Given the description of an element on the screen output the (x, y) to click on. 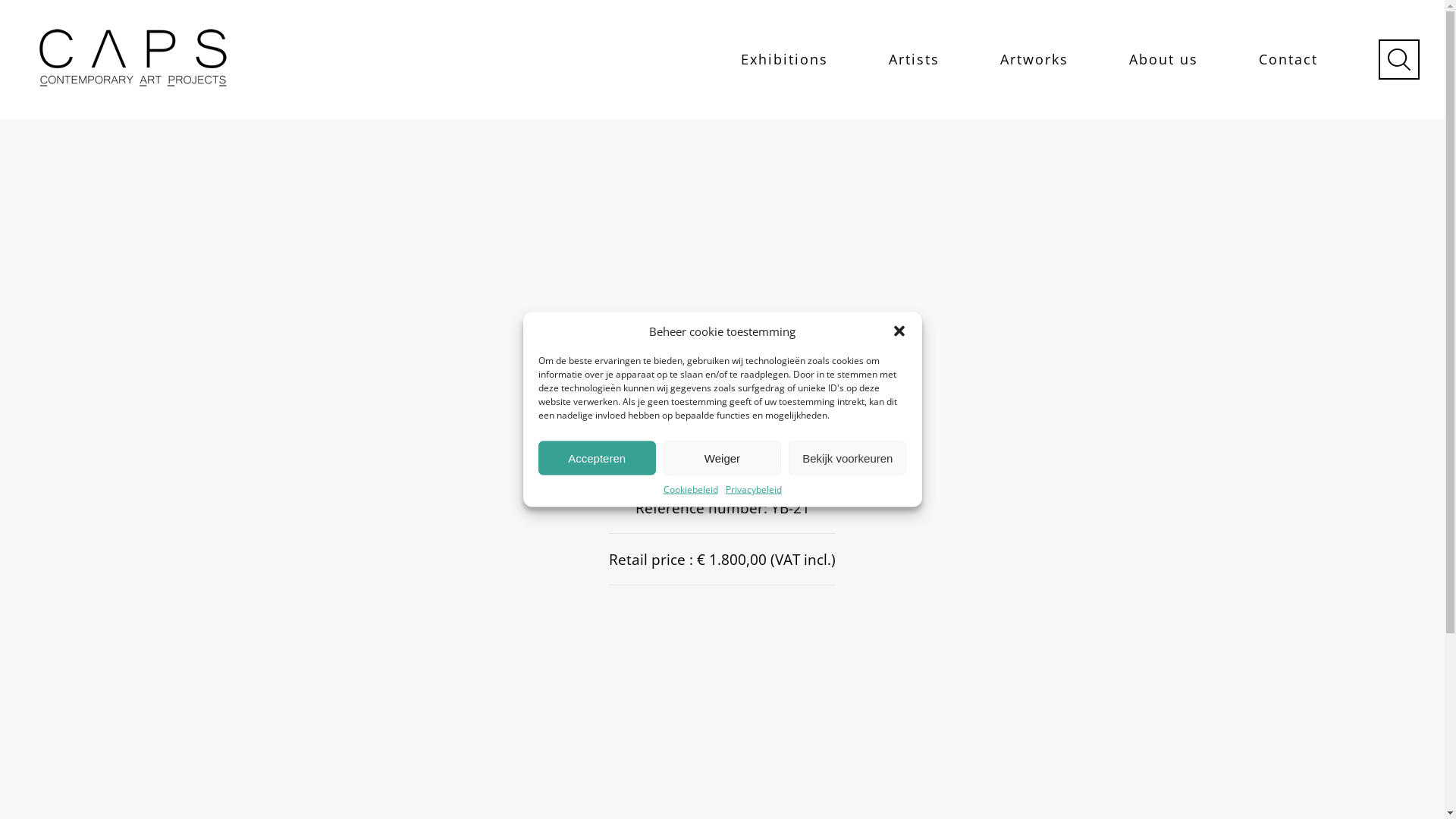
Exhibitions Element type: text (784, 59)
Privacybeleid Element type: text (752, 488)
Contact Element type: text (1287, 59)
Artists Element type: text (913, 59)
Accepteren Element type: text (596, 458)
Bekijk voorkeuren Element type: text (847, 458)
About us Element type: text (1163, 59)
Weiger Element type: text (722, 458)
Cookiebeleid Element type: text (689, 488)
Artworks Element type: text (1034, 59)
